Given the description of an element on the screen output the (x, y) to click on. 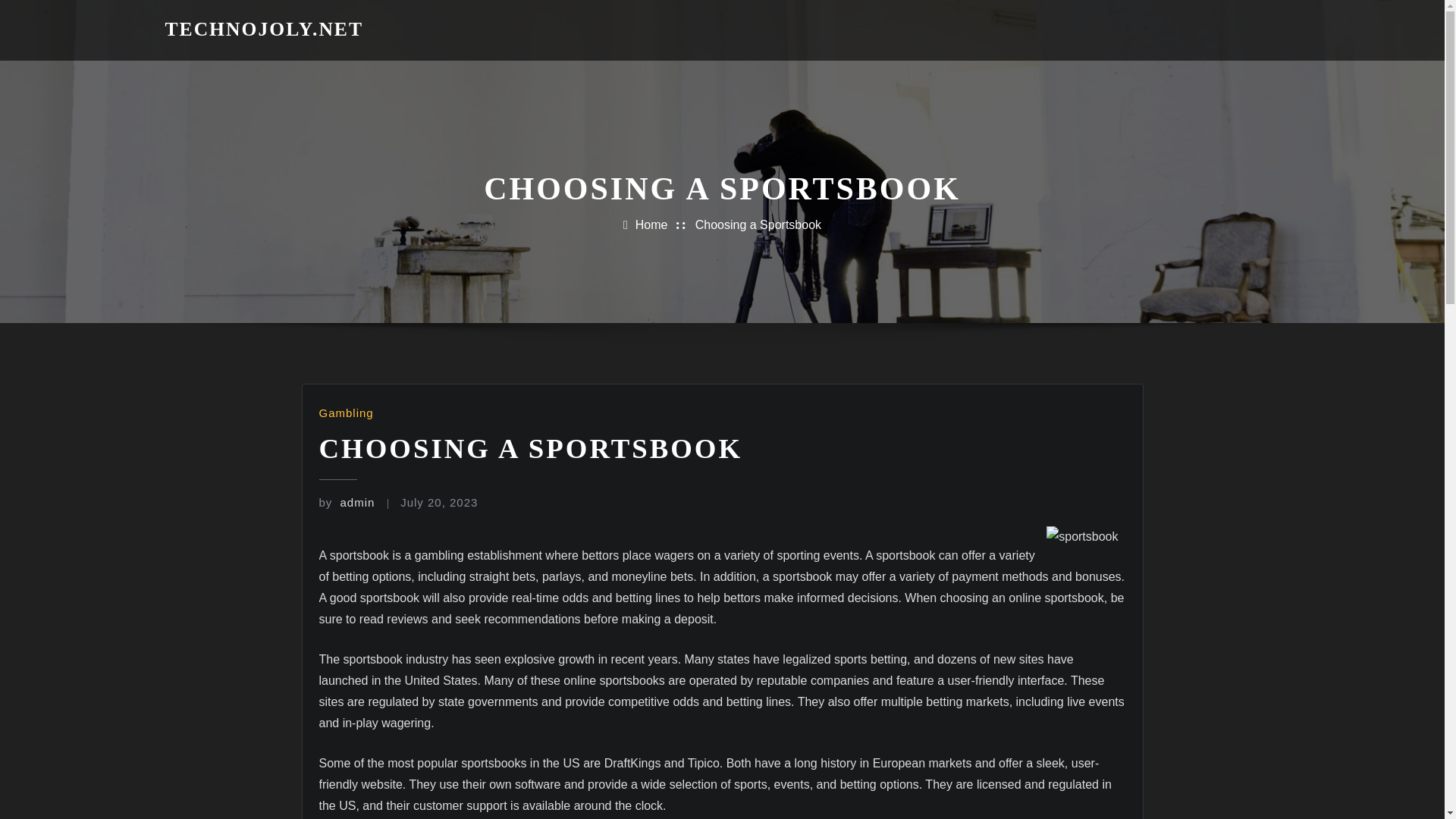
Home (651, 224)
by admin (346, 502)
Gambling (345, 412)
TECHNOJOLY.NET (264, 29)
July 20, 2023 (438, 502)
Choosing a Sportsbook (758, 224)
